Given the description of an element on the screen output the (x, y) to click on. 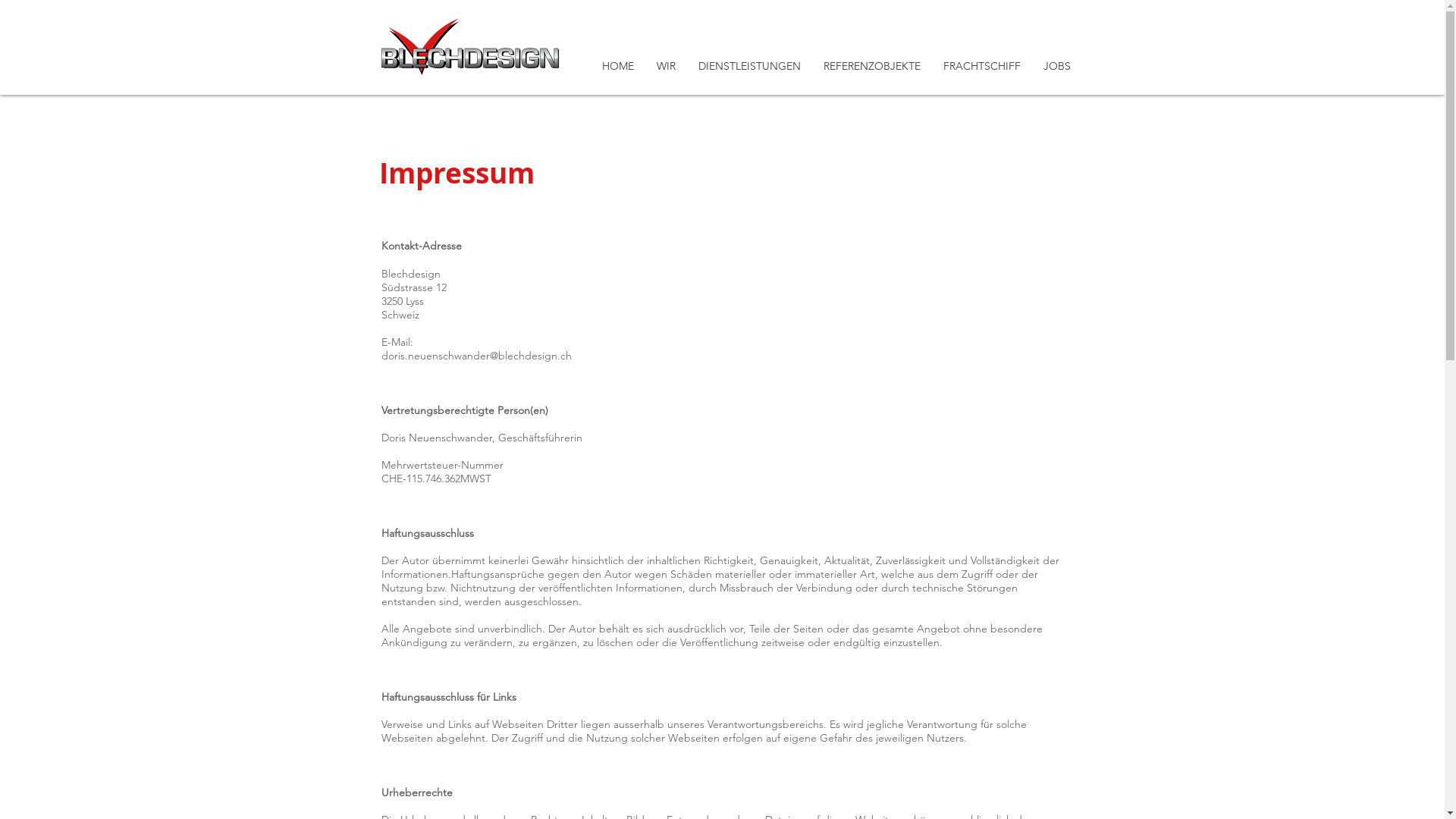
DIENSTLEISTUNGEN Element type: text (749, 65)
REFERENZOBJEKTE Element type: text (871, 65)
doris.neuenschwander@blechdesign.ch Element type: text (475, 355)
FRACHTSCHIFF Element type: text (981, 65)
WIR Element type: text (665, 65)
JOBS Element type: text (1056, 65)
HOME Element type: text (616, 65)
